Given the description of an element on the screen output the (x, y) to click on. 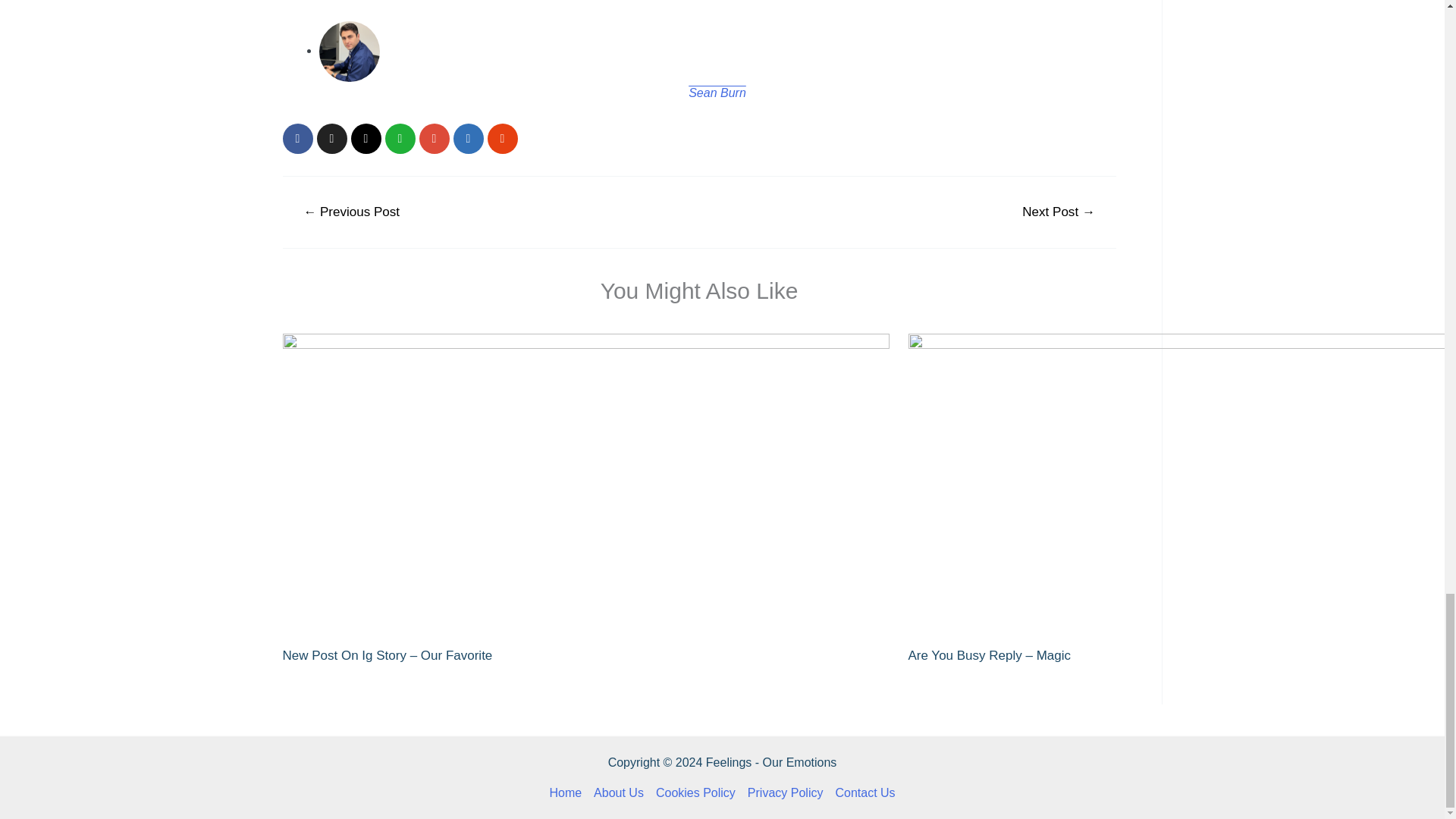
Sean Burn (716, 92)
Sean Burn (716, 92)
